Given the description of an element on the screen output the (x, y) to click on. 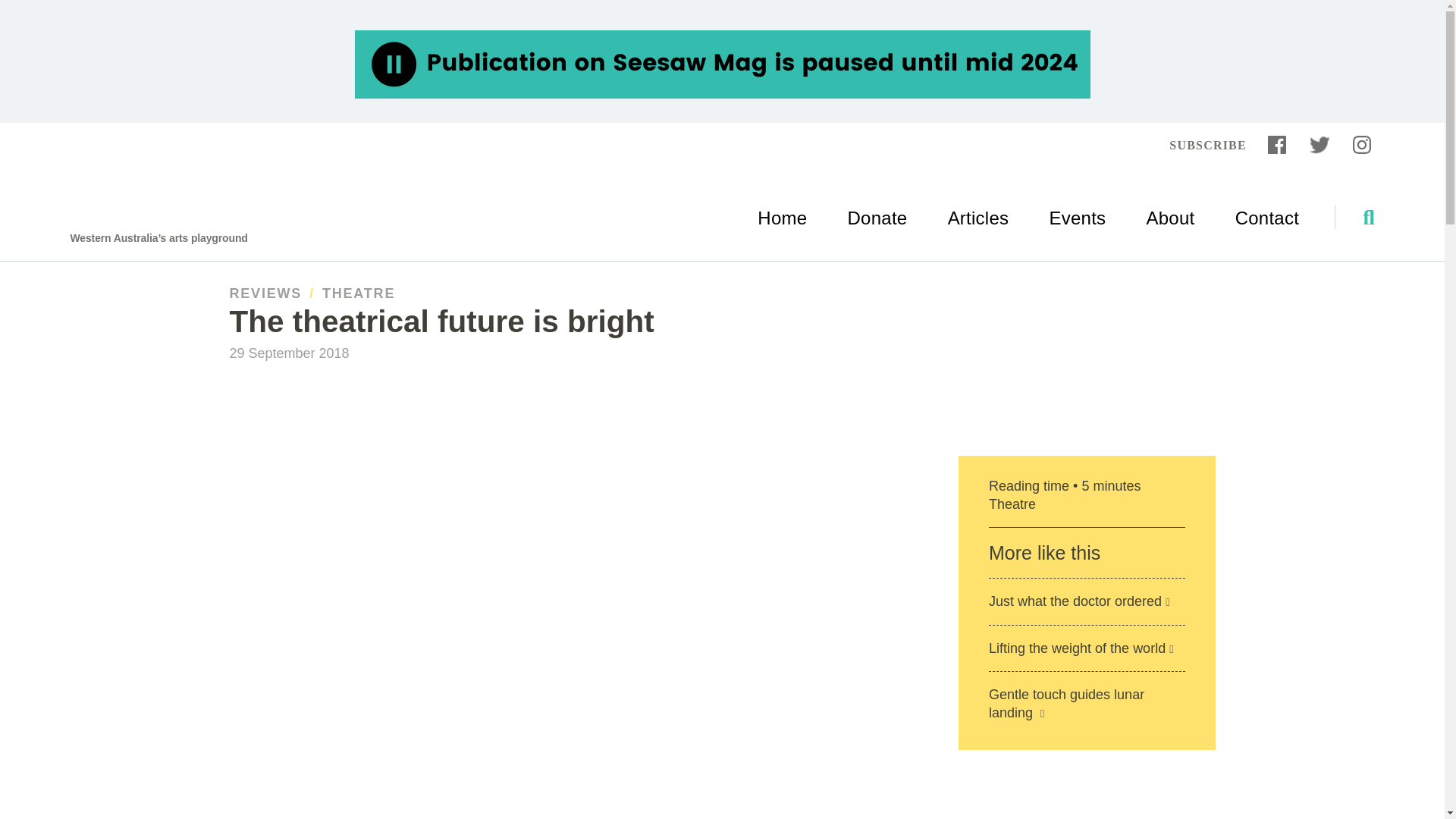
Donate (877, 32)
Events (1076, 32)
Contact (1266, 32)
Seesawmag (118, 32)
Articles (978, 32)
